Given the description of an element on the screen output the (x, y) to click on. 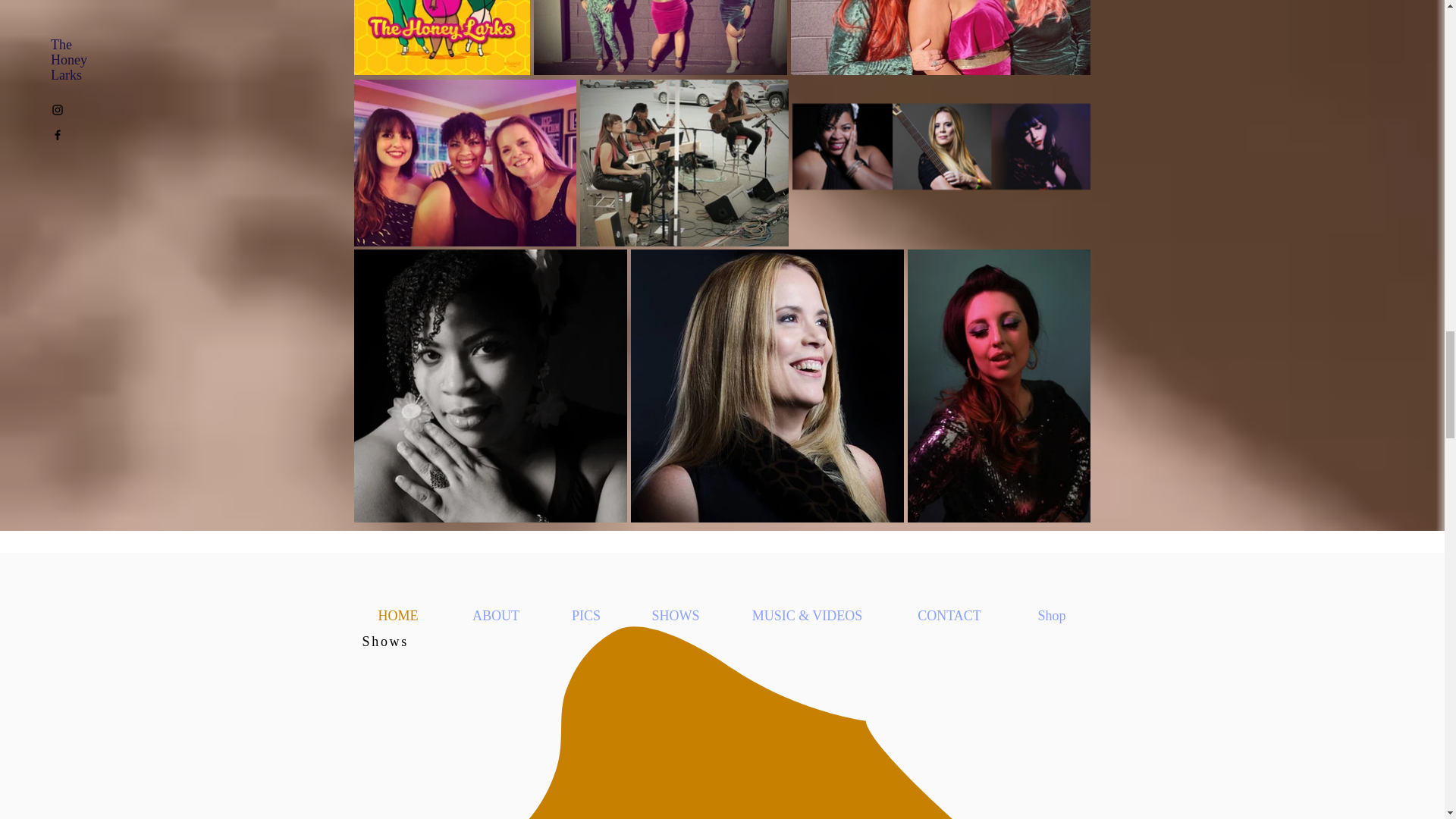
PICS (586, 615)
HOME (397, 615)
SHOWS (675, 615)
Shop (1052, 615)
ABOUT (496, 615)
CONTACT (948, 615)
